Given the description of an element on the screen output the (x, y) to click on. 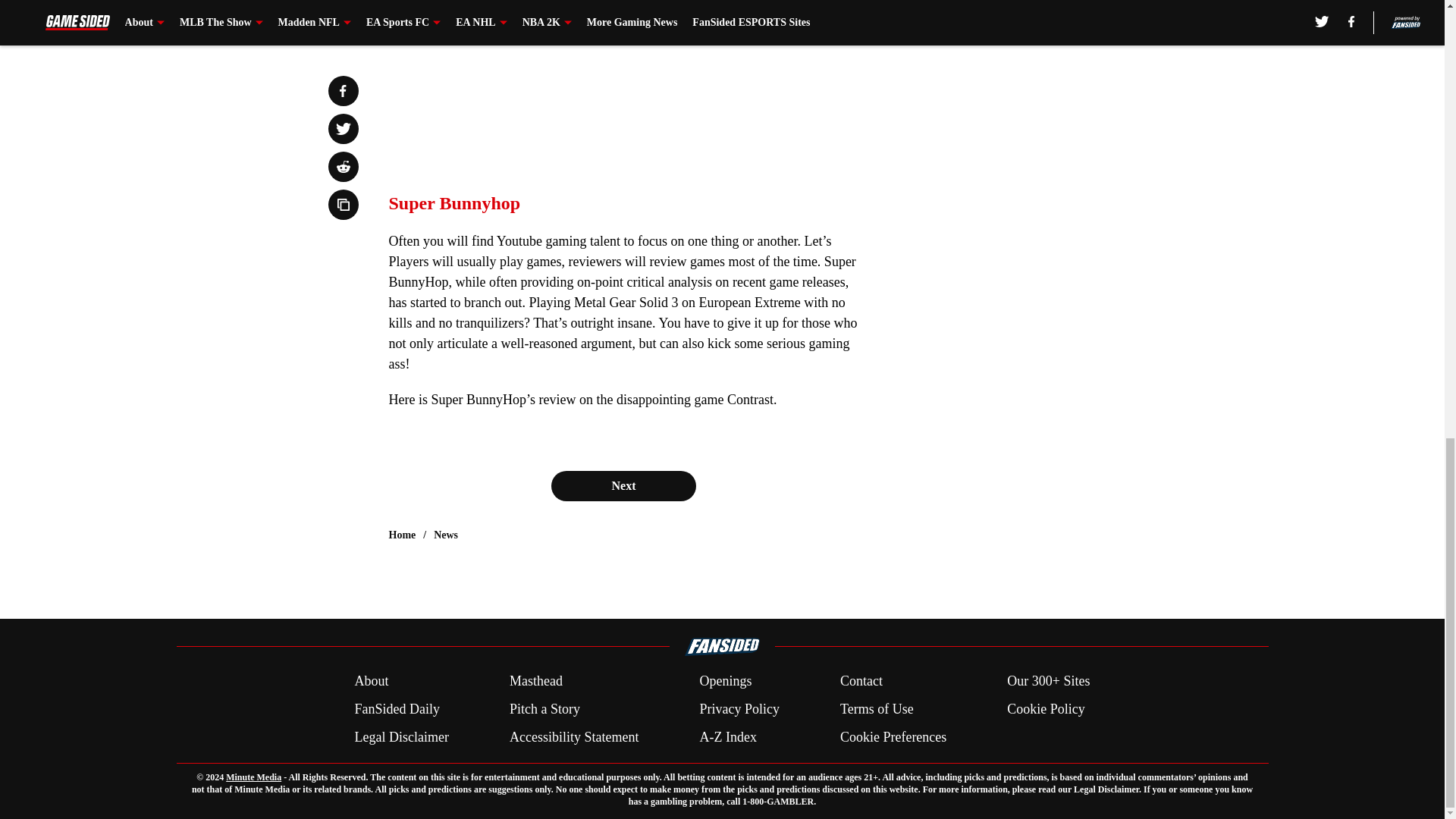
Masthead (535, 680)
Openings (724, 680)
Terms of Use (877, 709)
Home (401, 534)
Pitch a Story (544, 709)
Privacy Policy (738, 709)
Next (622, 485)
FanSided Daily (396, 709)
Contact (861, 680)
Super Bunnyhop (453, 202)
About (370, 680)
News (445, 534)
